Given the description of an element on the screen output the (x, y) to click on. 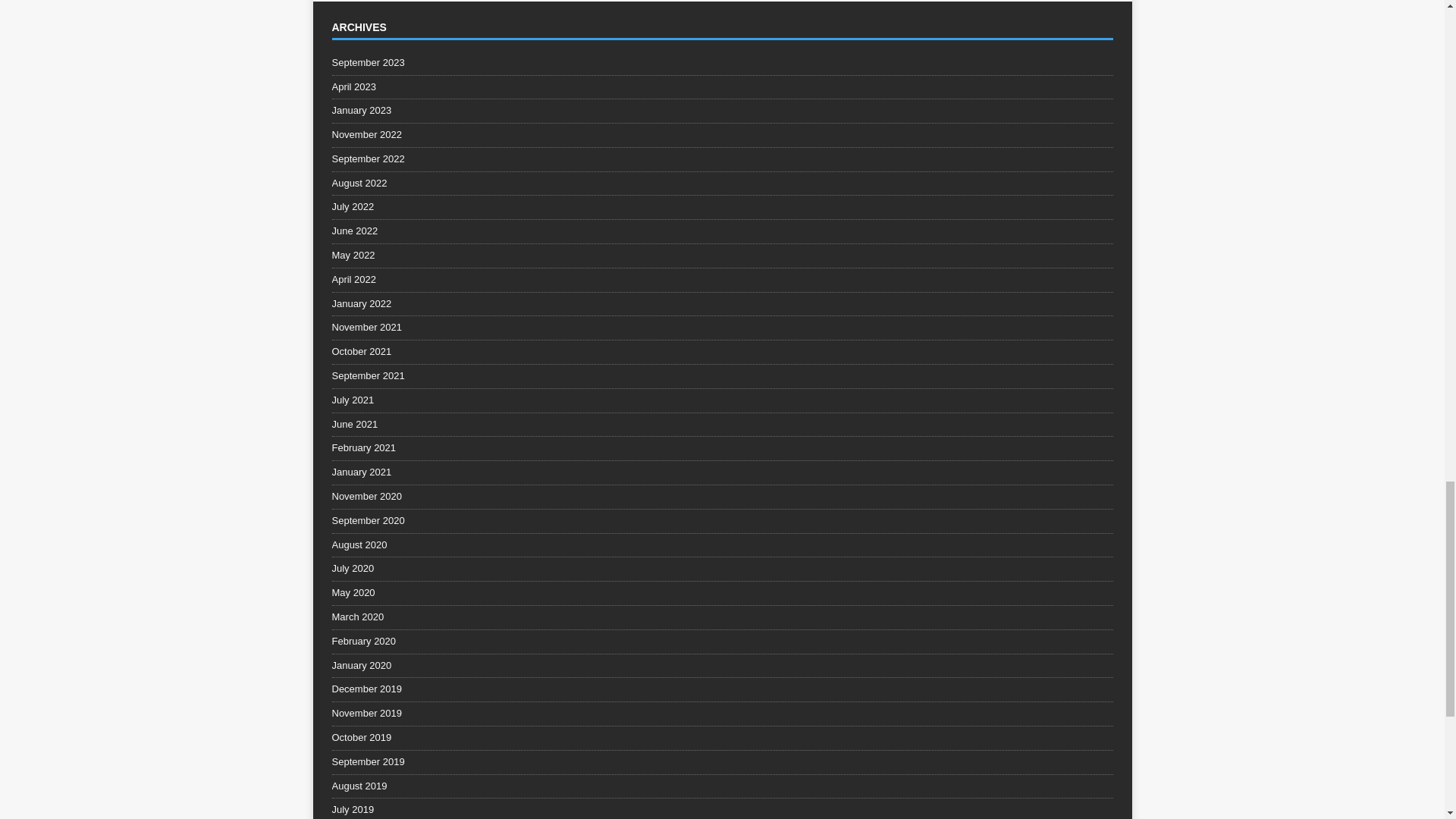
November 2022 (722, 135)
April 2023 (722, 87)
July 2022 (722, 207)
September 2022 (722, 159)
January 2023 (722, 110)
September 2023 (722, 65)
August 2022 (722, 183)
